Given the description of an element on the screen output the (x, y) to click on. 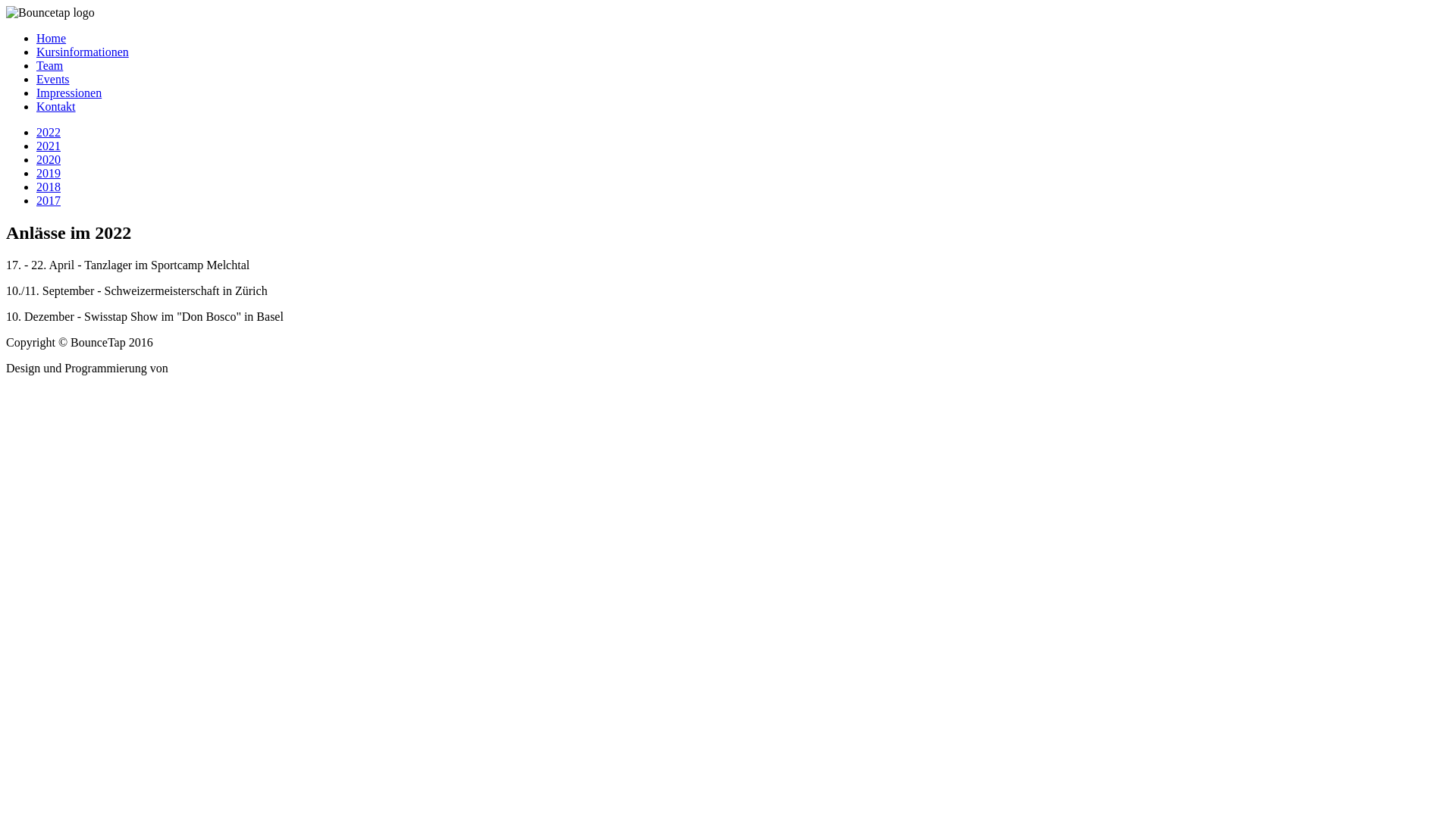
Impressionen Element type: text (68, 92)
Team Element type: text (49, 65)
Events Element type: text (52, 78)
Home Element type: text (50, 37)
2022 Element type: text (48, 131)
2017 Element type: text (48, 200)
2021 Element type: text (48, 145)
Kursinformationen Element type: text (82, 51)
2019 Element type: text (48, 172)
2020 Element type: text (48, 159)
Kontakt Element type: text (55, 106)
2018 Element type: text (48, 186)
